Given the description of an element on the screen output the (x, y) to click on. 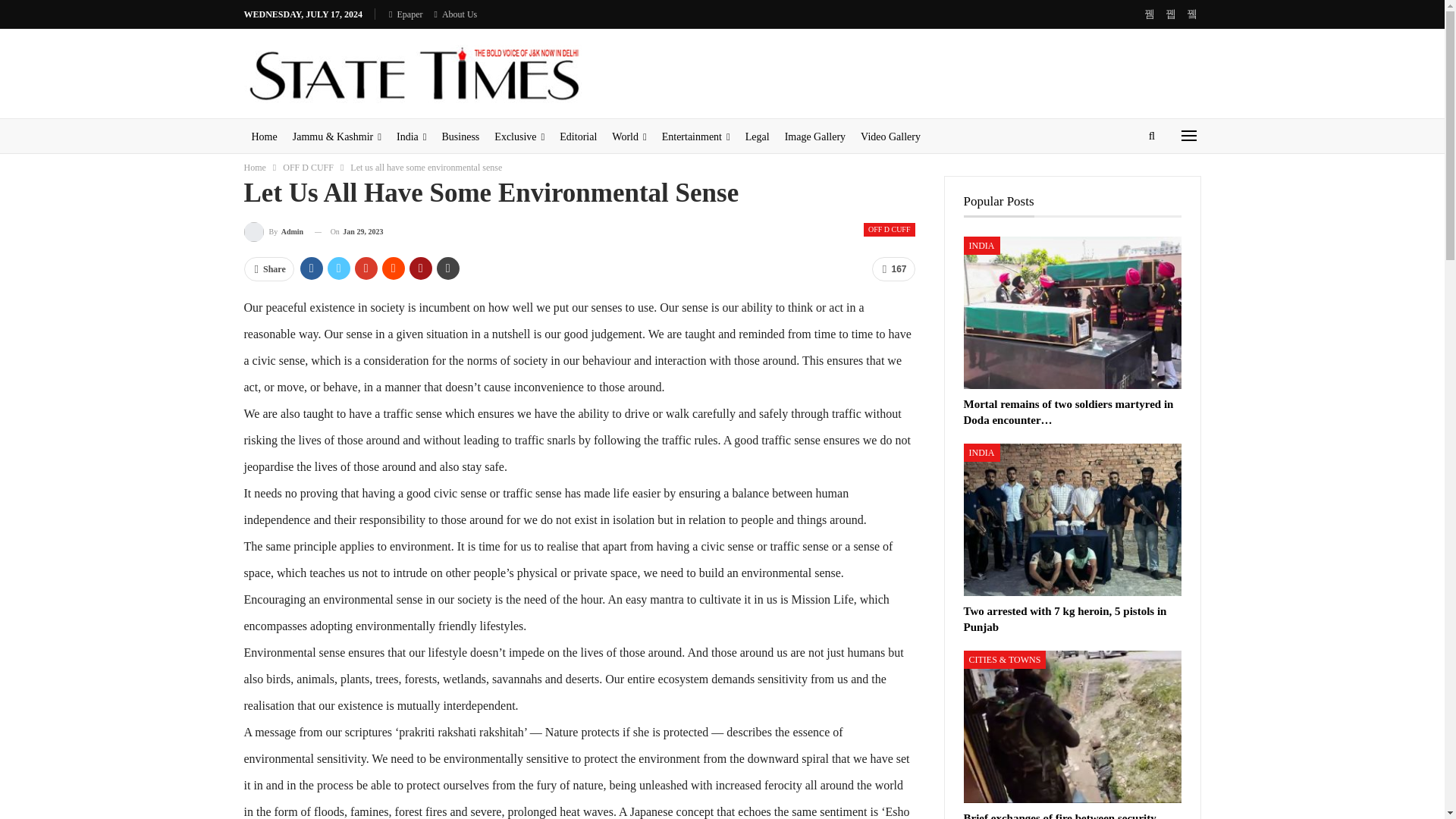
Epaper (405, 14)
